Given the description of an element on the screen output the (x, y) to click on. 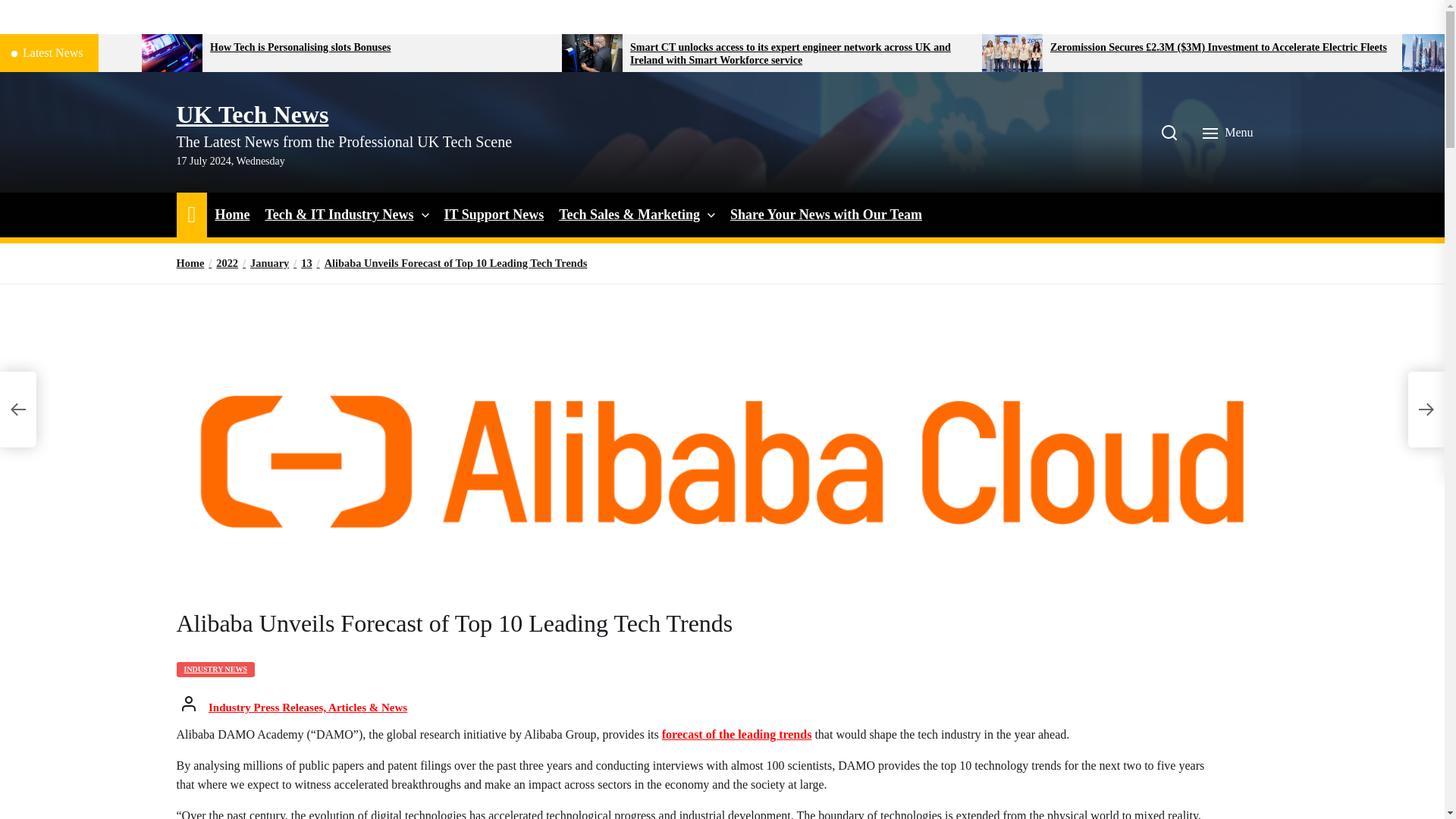
How Tech is Personalising slots Bonuses (379, 47)
Threatening call directly to the boss (65, 47)
